Given the description of an element on the screen output the (x, y) to click on. 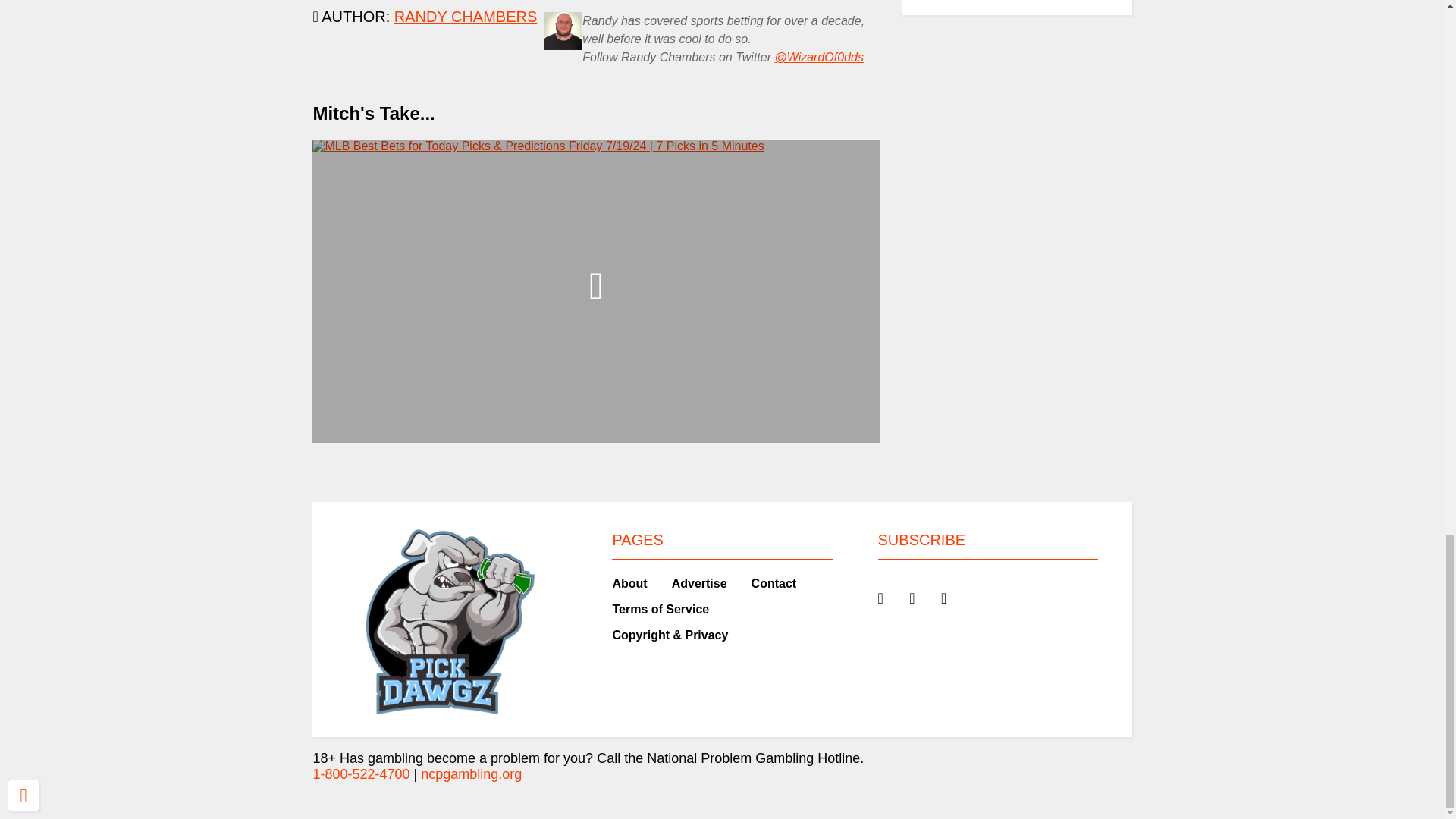
author profile (465, 16)
